Given the description of an element on the screen output the (x, y) to click on. 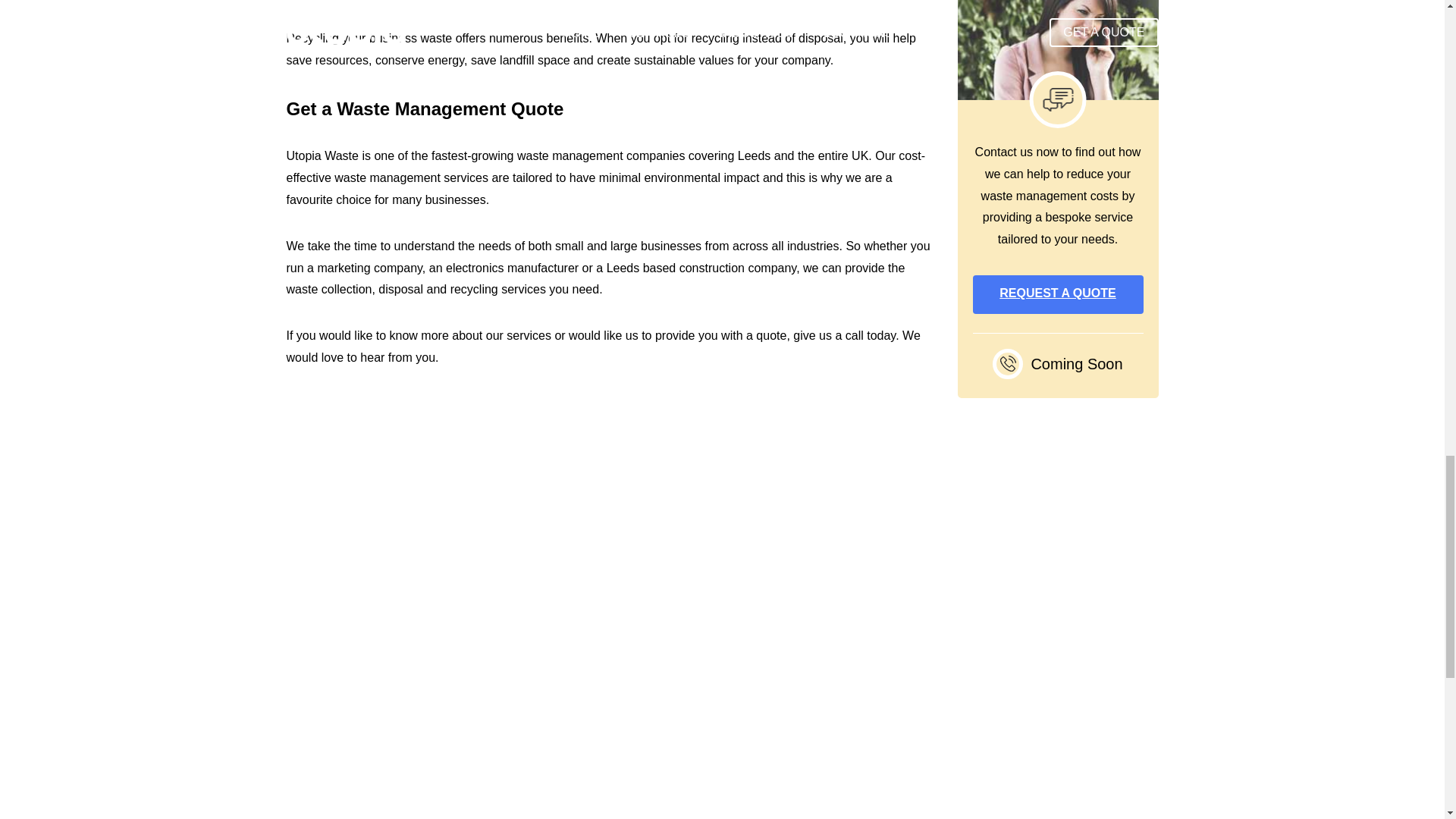
REQUEST A QUOTE (1057, 294)
